Given the description of an element on the screen output the (x, y) to click on. 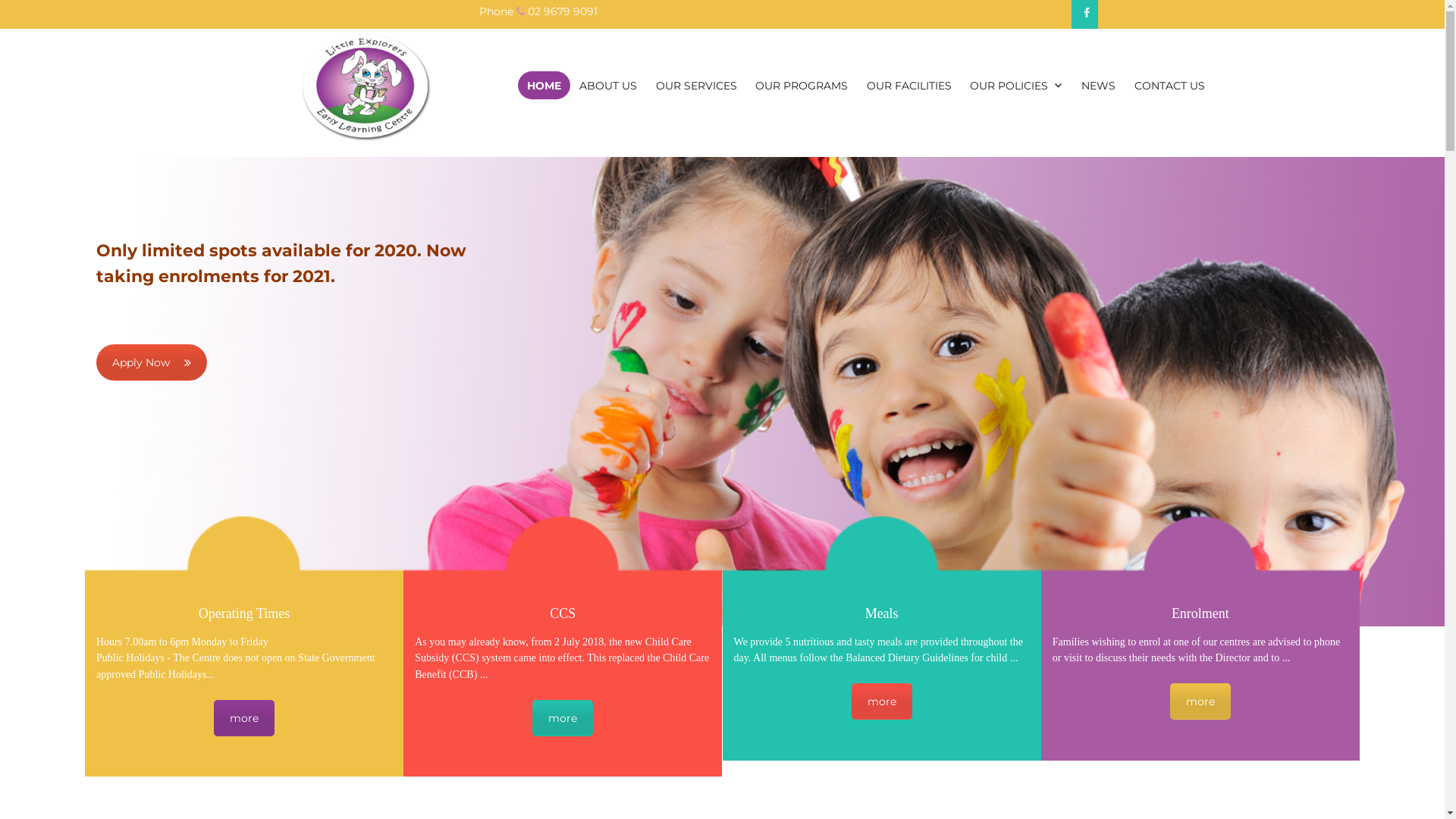
more Element type: text (1200, 701)
OUR FACILITIES Element type: text (908, 85)
more Element type: text (243, 717)
02 9679 9091 Element type: text (562, 11)
CONTACT US Element type: text (1169, 85)
OUR POLICIES Element type: text (1016, 85)
HOME Element type: text (543, 85)
more Element type: text (881, 701)
OUR PROGRAMS Element type: text (801, 85)
ABOUT US Element type: text (608, 85)
OUR SERVICES Element type: text (696, 85)
Little Explorers Element type: text (385, 164)
NEWS Element type: text (1098, 85)
Apply Now Element type: text (151, 362)
more Element type: text (562, 717)
